Given the description of an element on the screen output the (x, y) to click on. 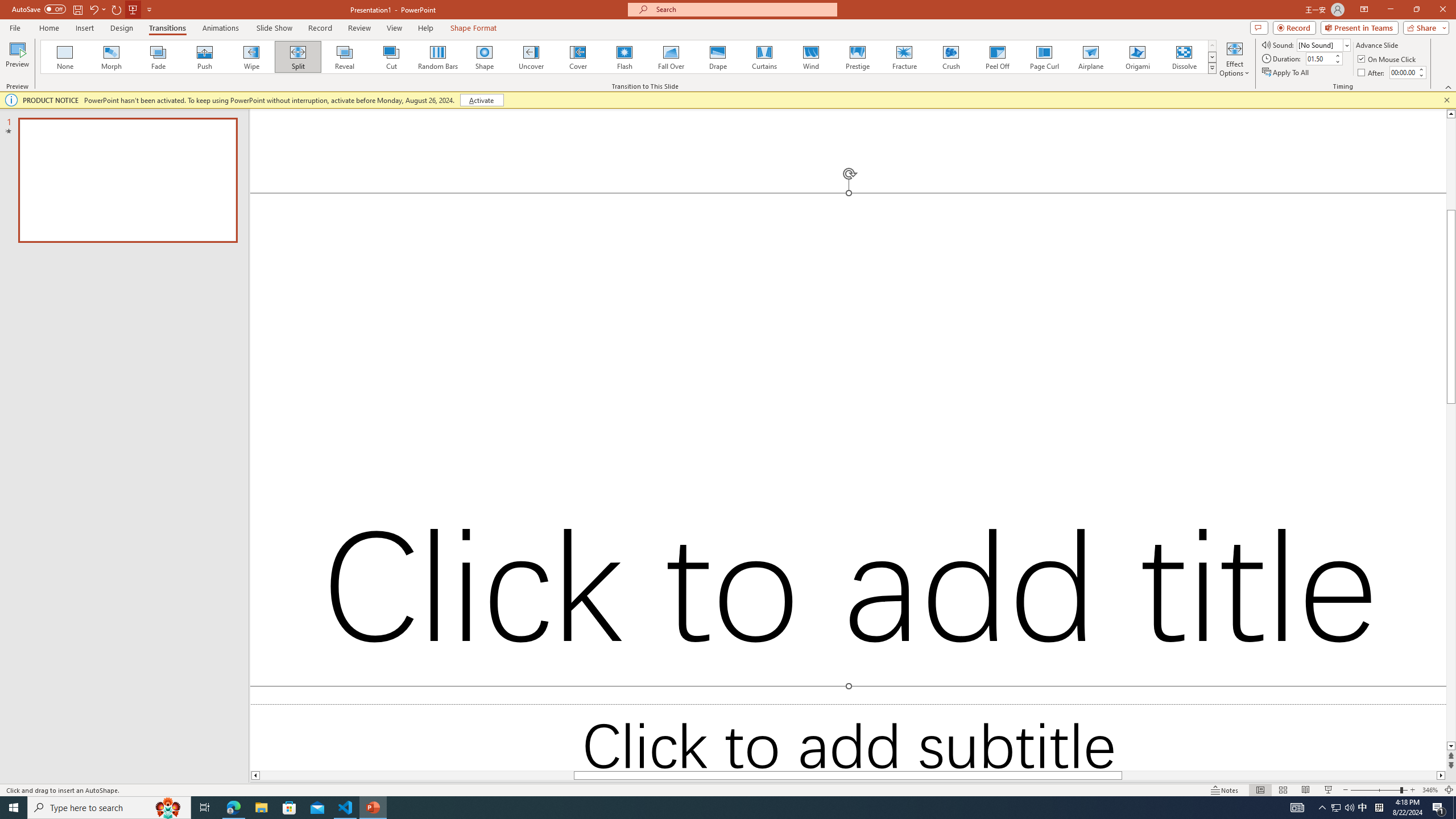
Text Effects and Typography (252, 102)
Subtle Emphasis (1369, 381)
Microsoft search (749, 18)
Clear Formatting (328, 77)
Shading (565, 102)
Italic (120, 102)
Row up (1025, 76)
Strong (1369, 430)
